Given the description of an element on the screen output the (x, y) to click on. 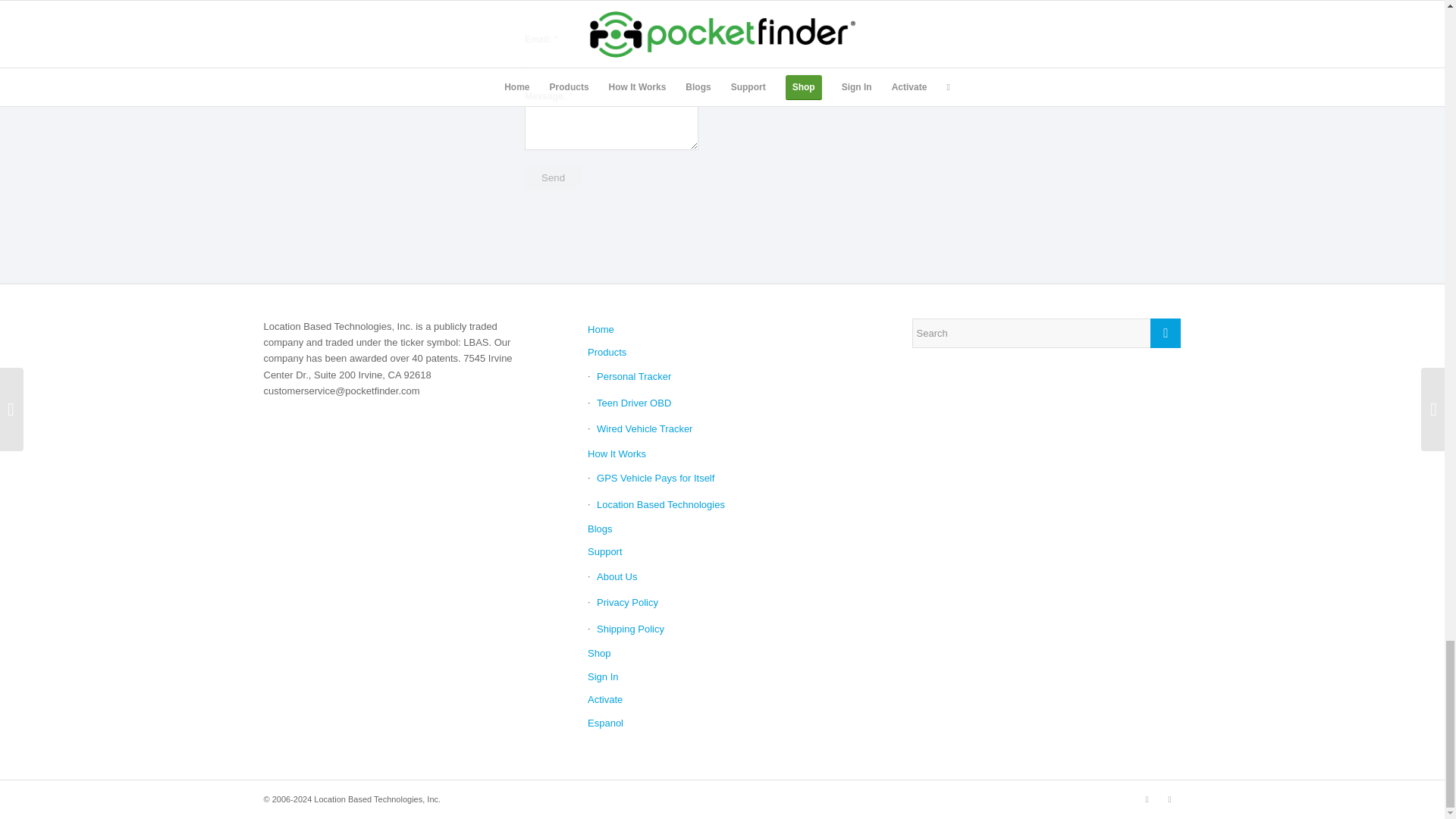
Twitter (1169, 798)
Facebook (1146, 798)
Send (552, 177)
